Given the description of an element on the screen output the (x, y) to click on. 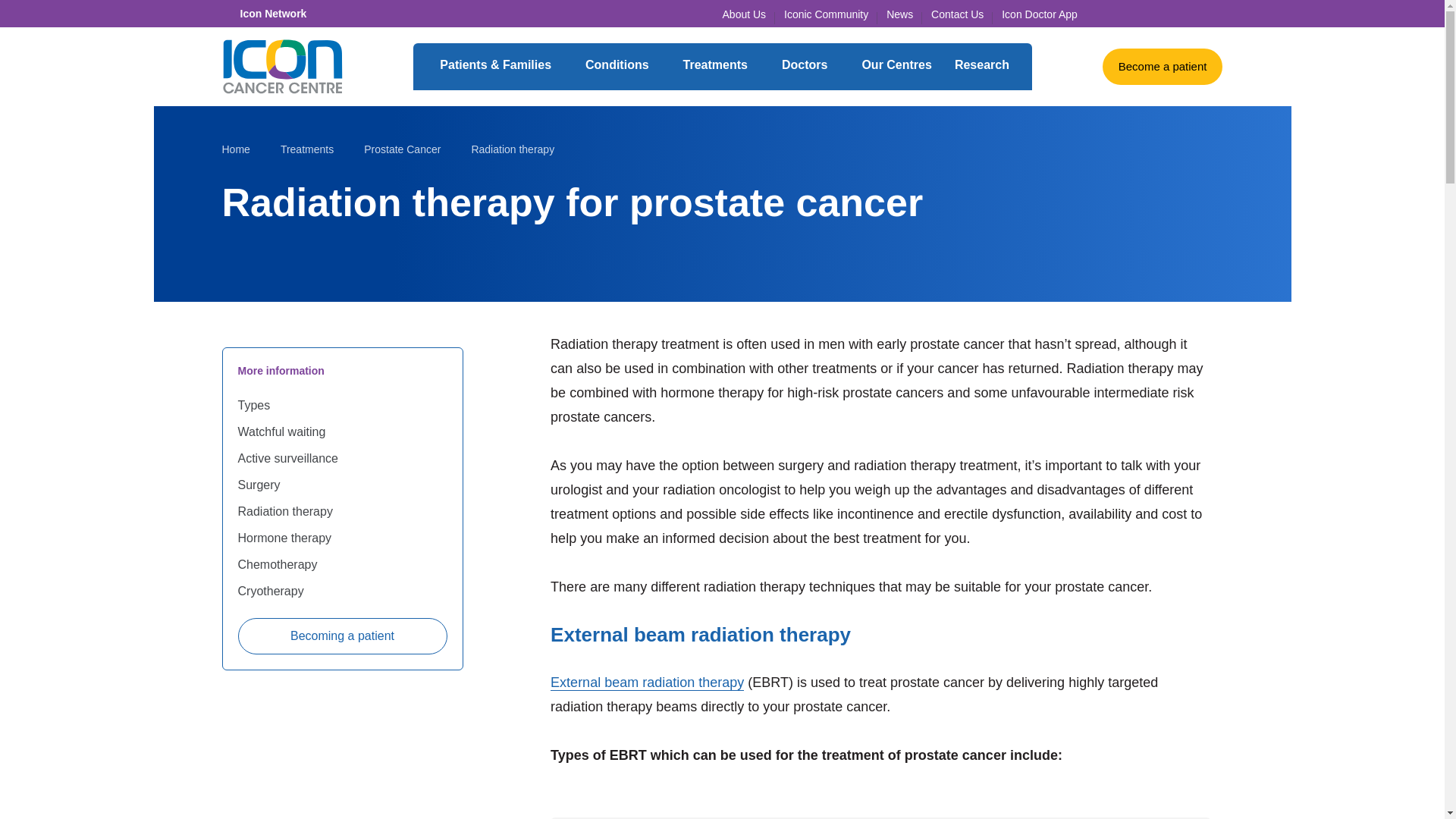
News (899, 13)
Icon Doctor App (1039, 13)
Contact Us (957, 13)
Iconic Community (825, 13)
About Us (744, 13)
